Given the description of an element on the screen output the (x, y) to click on. 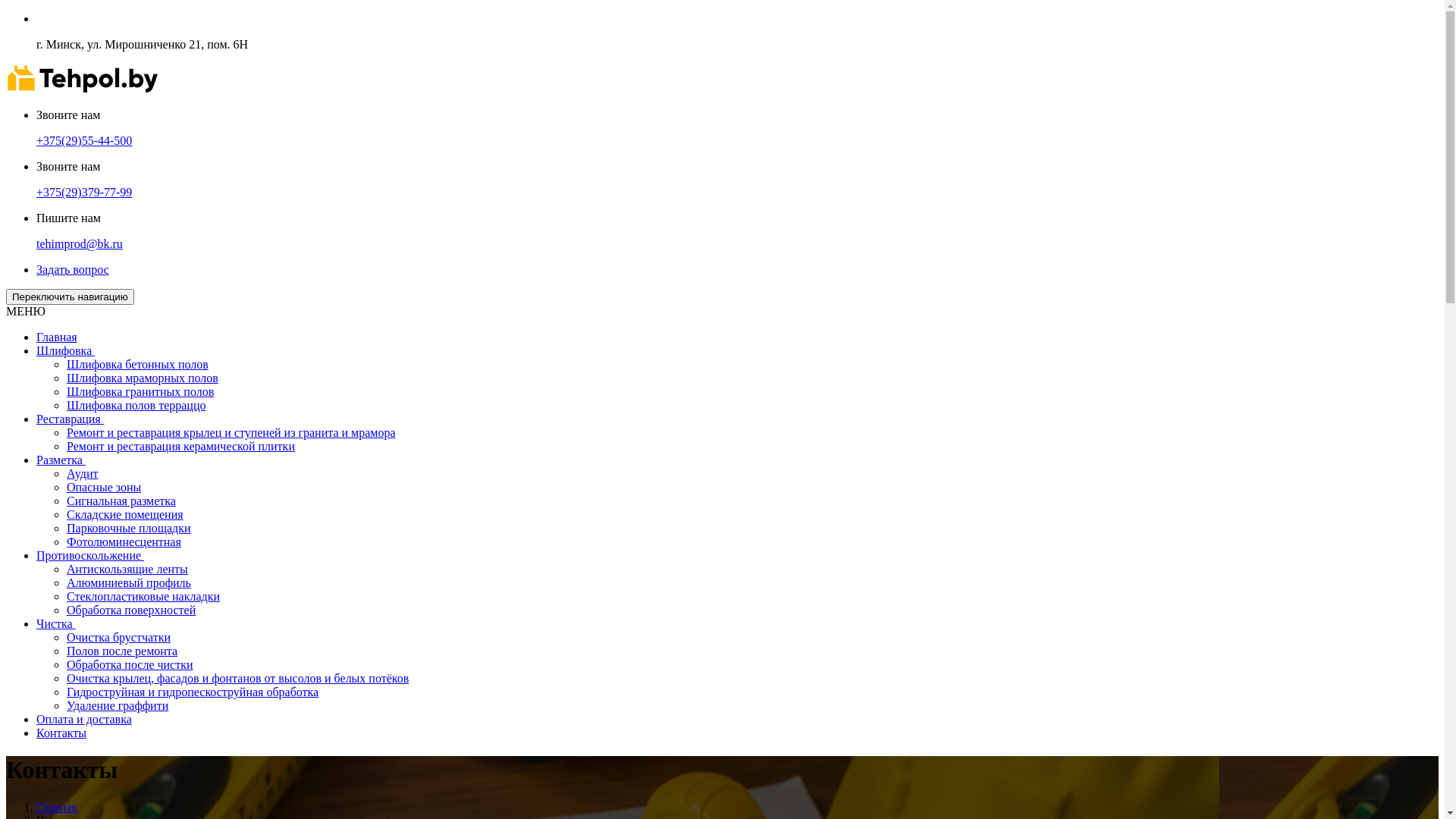
tehimprod@bk.ru Element type: text (79, 243)
+375(29)379-77-99 Element type: text (83, 191)
+375(29)55-44-500 Element type: text (83, 140)
